Given the description of an element on the screen output the (x, y) to click on. 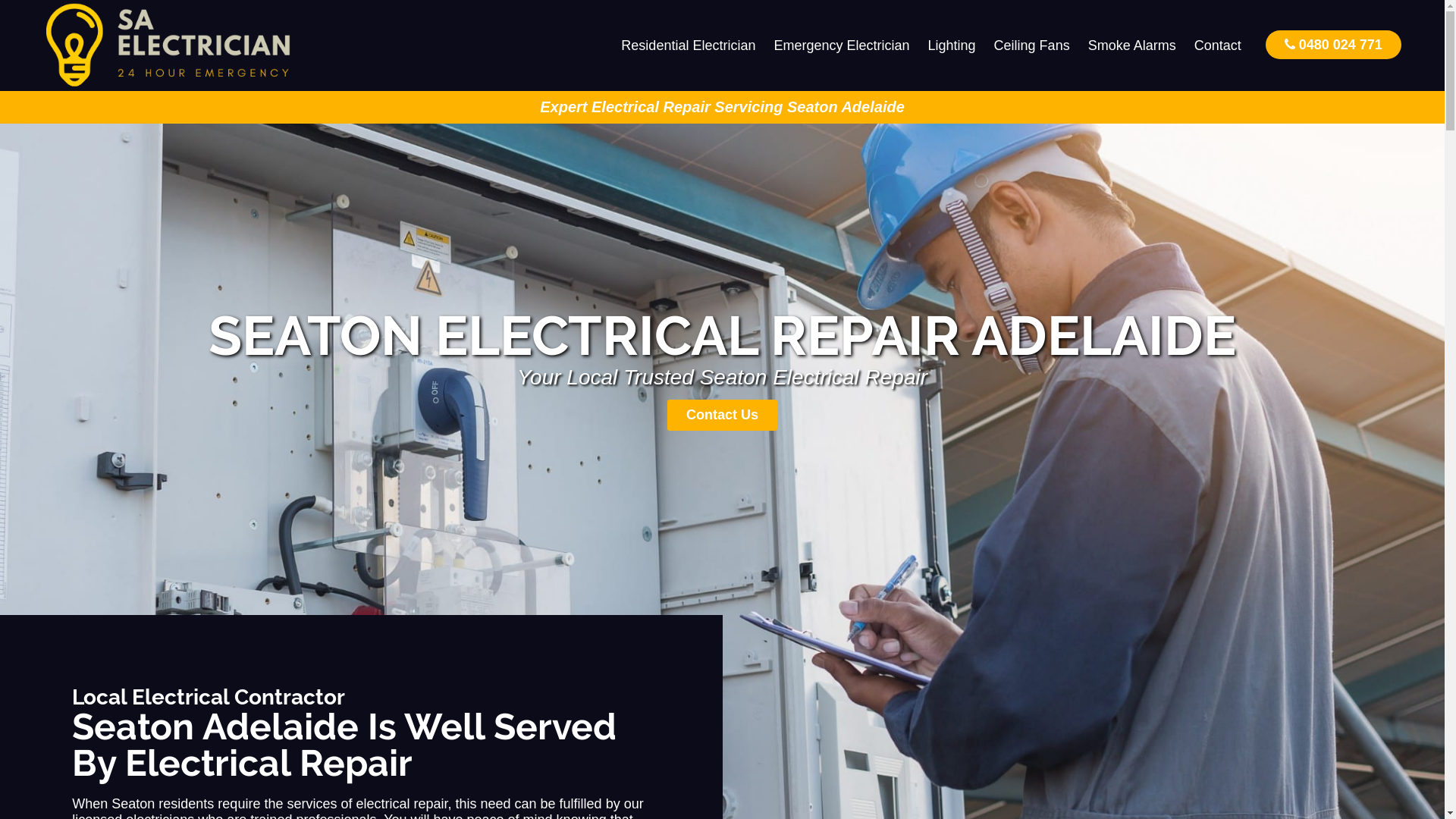
Residential Electrician Element type: text (687, 45)
Emergency Electrician Element type: text (841, 45)
0480 024 771 Element type: text (1333, 44)
Ceiling Fans Element type: text (1032, 45)
Smoke Alarms Element type: text (1132, 45)
Contact Element type: text (1217, 45)
Lighting Element type: text (952, 45)
Contact Us Element type: text (722, 414)
